Given the description of an element on the screen output the (x, y) to click on. 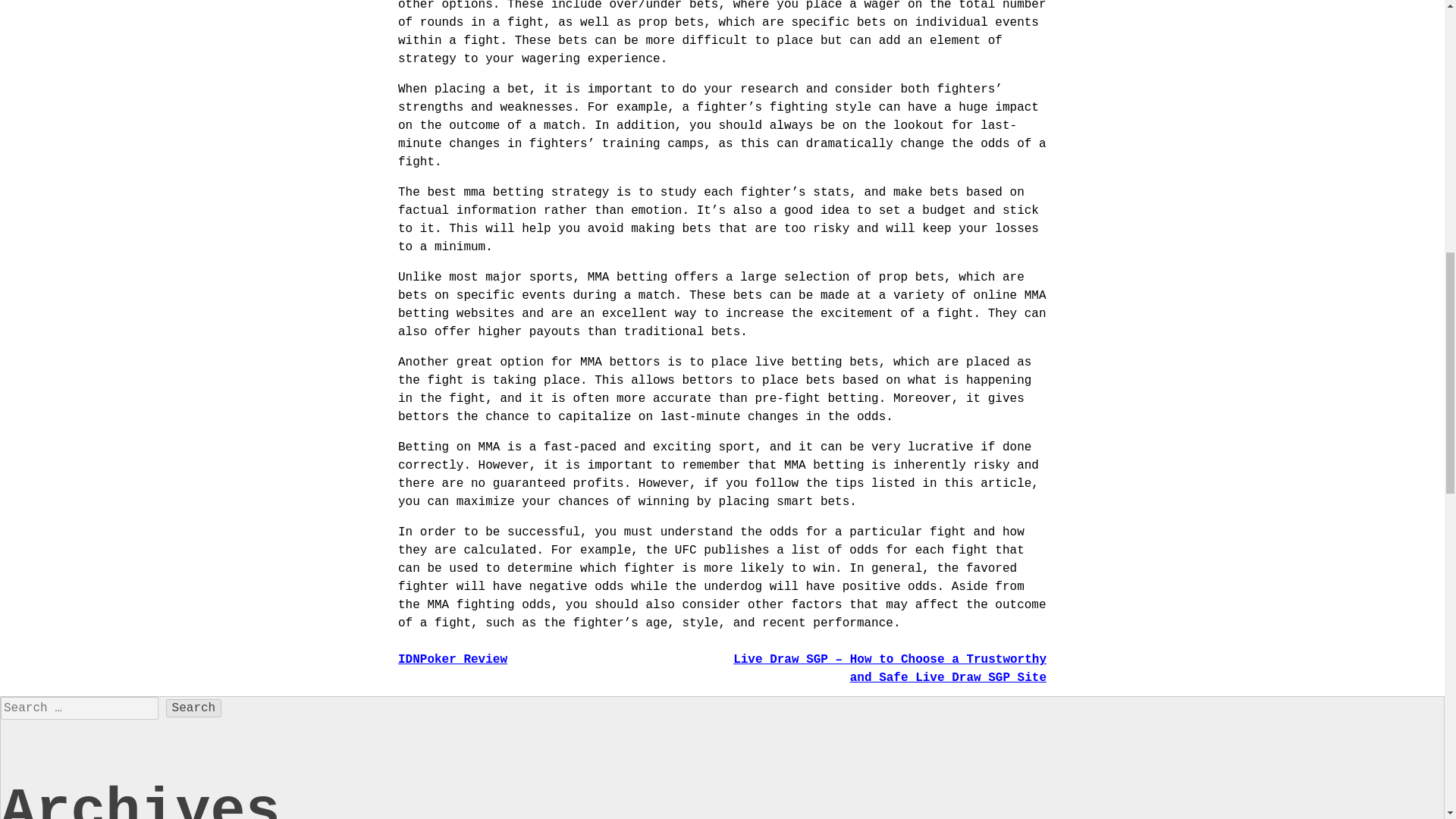
Search (193, 708)
Search (193, 708)
Search (193, 708)
IDNPoker Review (451, 659)
